Given the description of an element on the screen output the (x, y) to click on. 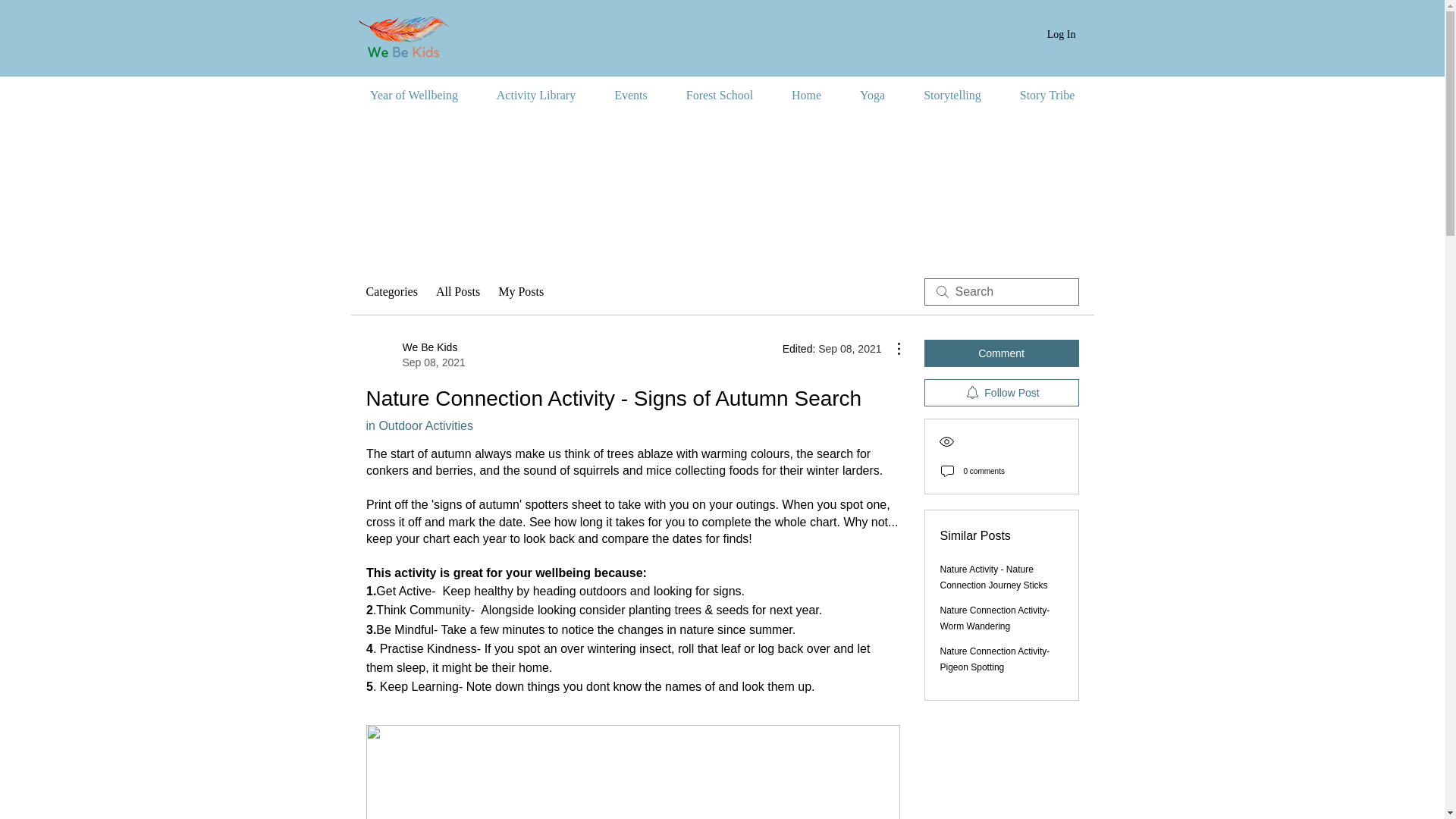
Story Tribe (1047, 95)
Nature Connection Activity- Worm Wandering (994, 618)
Follow Post (1000, 392)
Year of Wellbeing (413, 95)
Categories (390, 291)
in Outdoor Activities (418, 425)
Nature Activity - Nature Connection Journey Sticks (994, 577)
Yoga (872, 95)
Home (805, 95)
Events (630, 95)
My Posts (520, 291)
Storytelling (414, 354)
Nature Connection Activity- Pigeon Spotting (952, 95)
Forest School (994, 659)
